Given the description of an element on the screen output the (x, y) to click on. 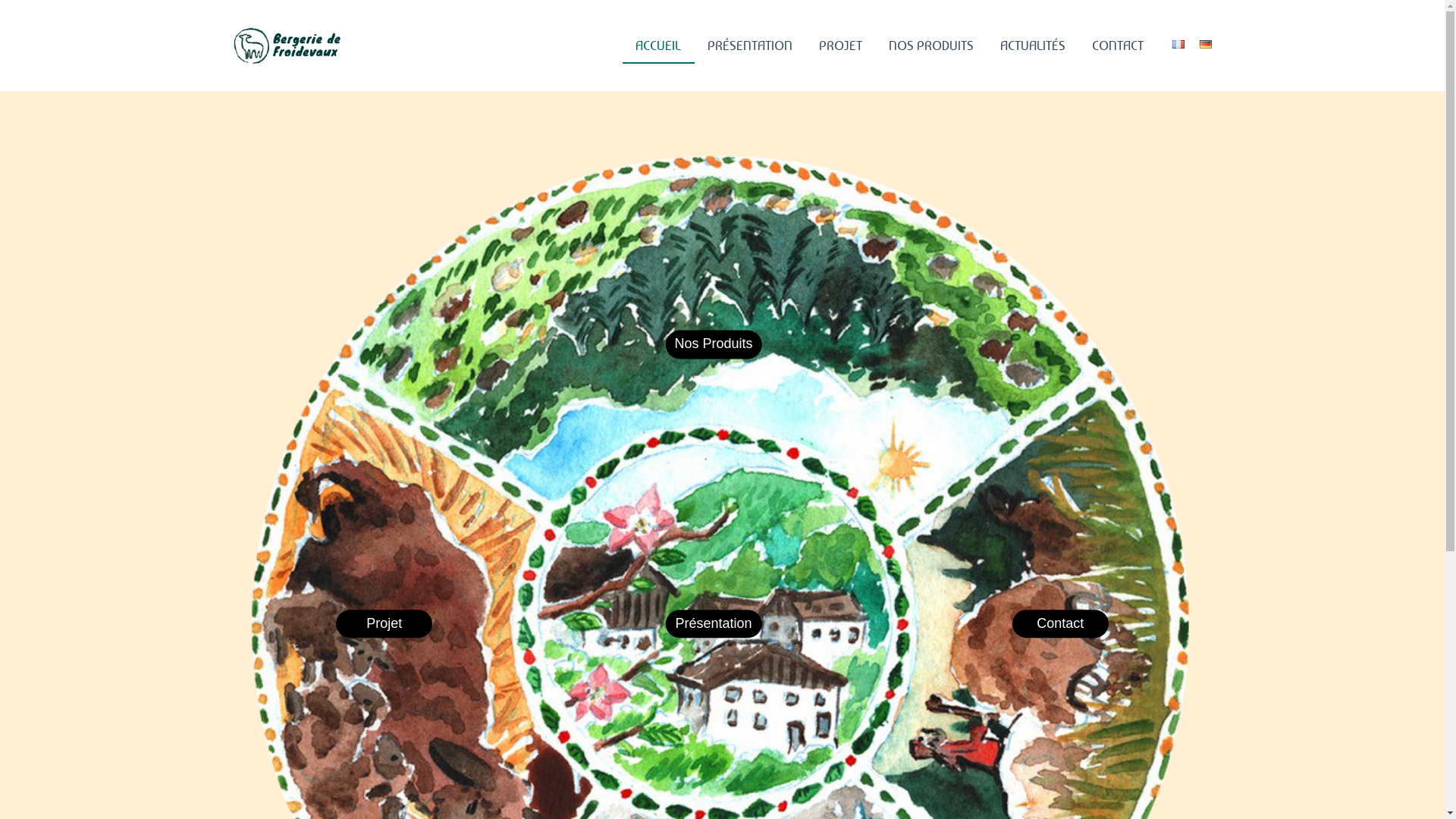
PROJET Element type: text (840, 45)
Nos Produits Element type: text (713, 344)
Projet Element type: text (383, 623)
CONTACT Element type: text (1117, 45)
NOS PRODUITS Element type: text (930, 45)
ACCUEIL Element type: text (657, 45)
Passer au contenu Element type: text (15, 7)
Contact Element type: text (1060, 623)
